Given the description of an element on the screen output the (x, y) to click on. 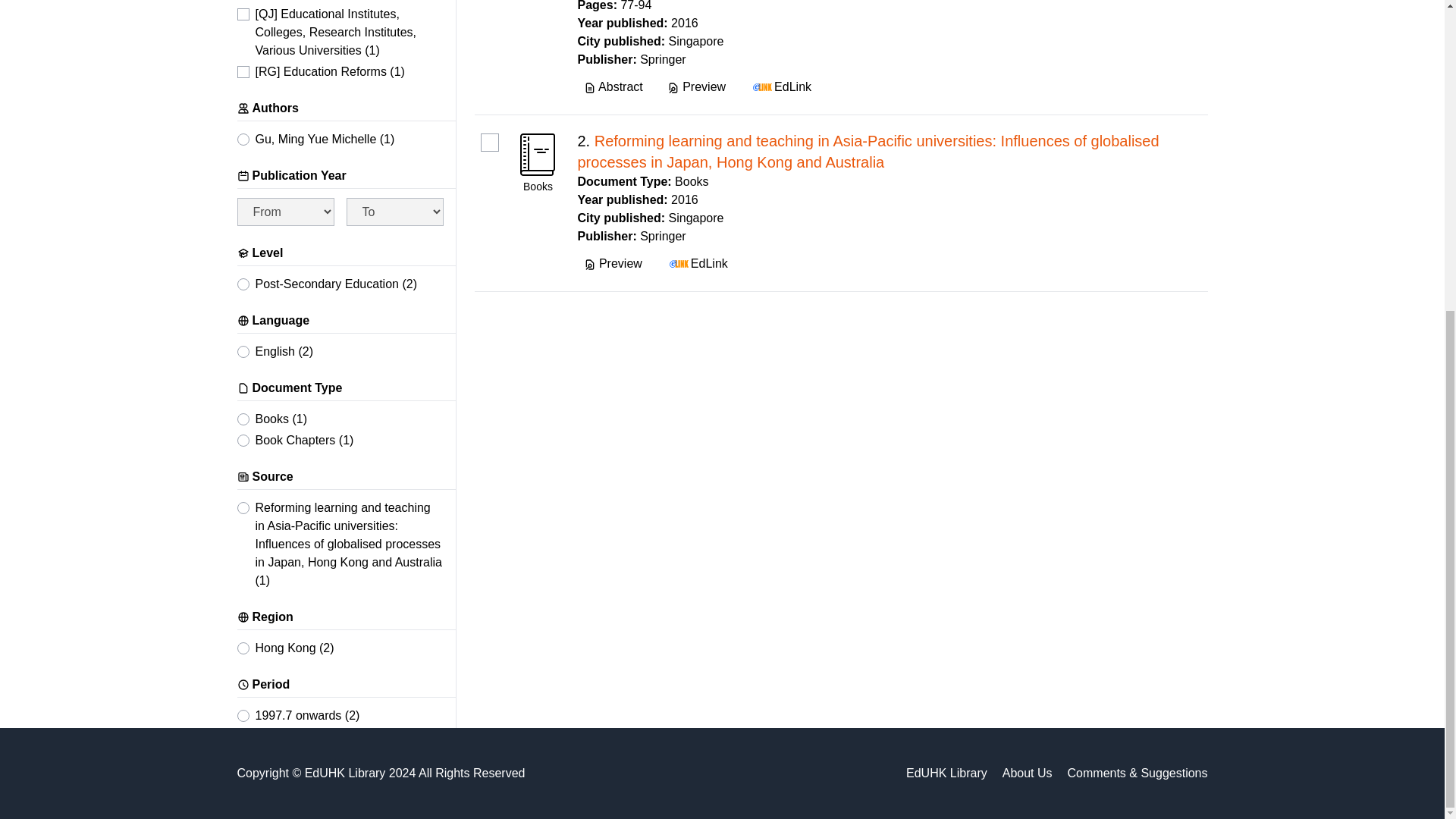
EdLink (780, 87)
Preview (696, 87)
Abstract (613, 87)
Preview (612, 263)
